Given the description of an element on the screen output the (x, y) to click on. 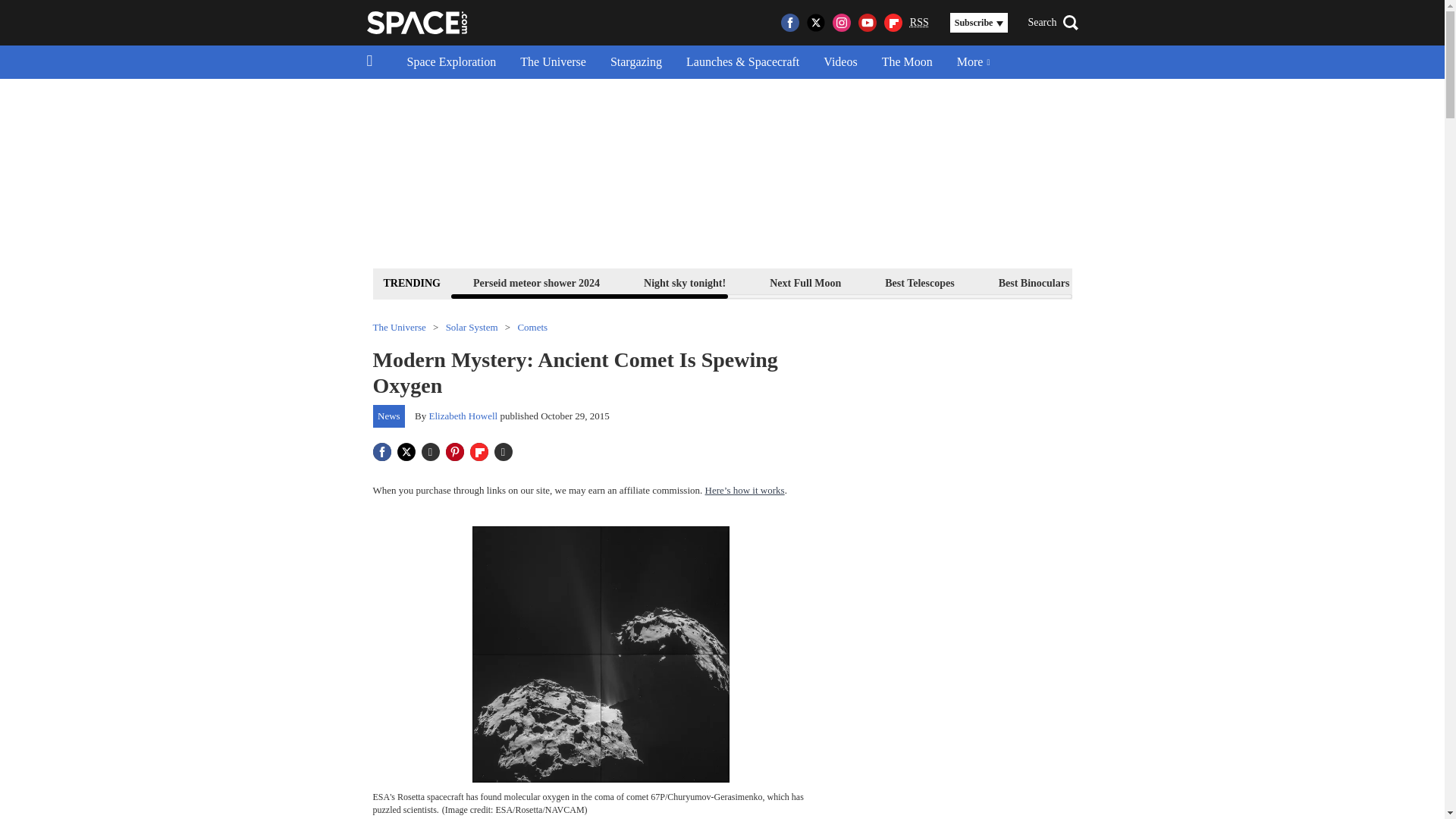
Next Full Moon (804, 282)
Best Star Projectors (1158, 282)
Best Binoculars (1033, 282)
Night sky tonight! (684, 282)
Best Telescopes (919, 282)
RSS (919, 22)
The Moon (906, 61)
Space Calendar (1283, 282)
Stargazing (636, 61)
Videos (839, 61)
